Given the description of an element on the screen output the (x, y) to click on. 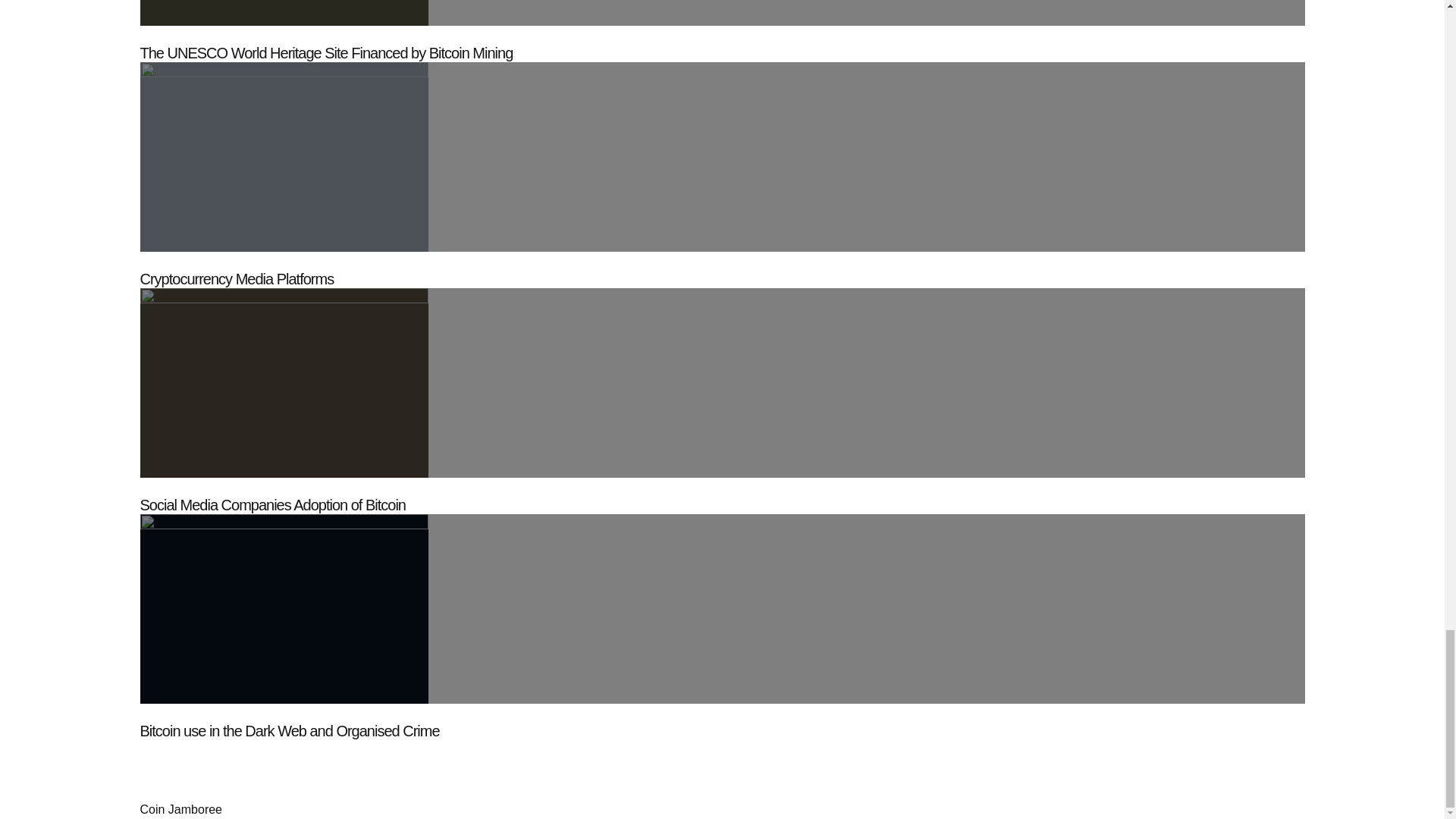
The UNESCO World Heritage Site Financed by Bitcoin Mining (325, 53)
Cryptocurrency Media Platforms (236, 279)
Coin Jamboree (180, 809)
Bitcoin use in the Dark Web and Organised Crime (289, 730)
Social Media Companies Adoption of Bitcoin (271, 504)
